Given the description of an element on the screen output the (x, y) to click on. 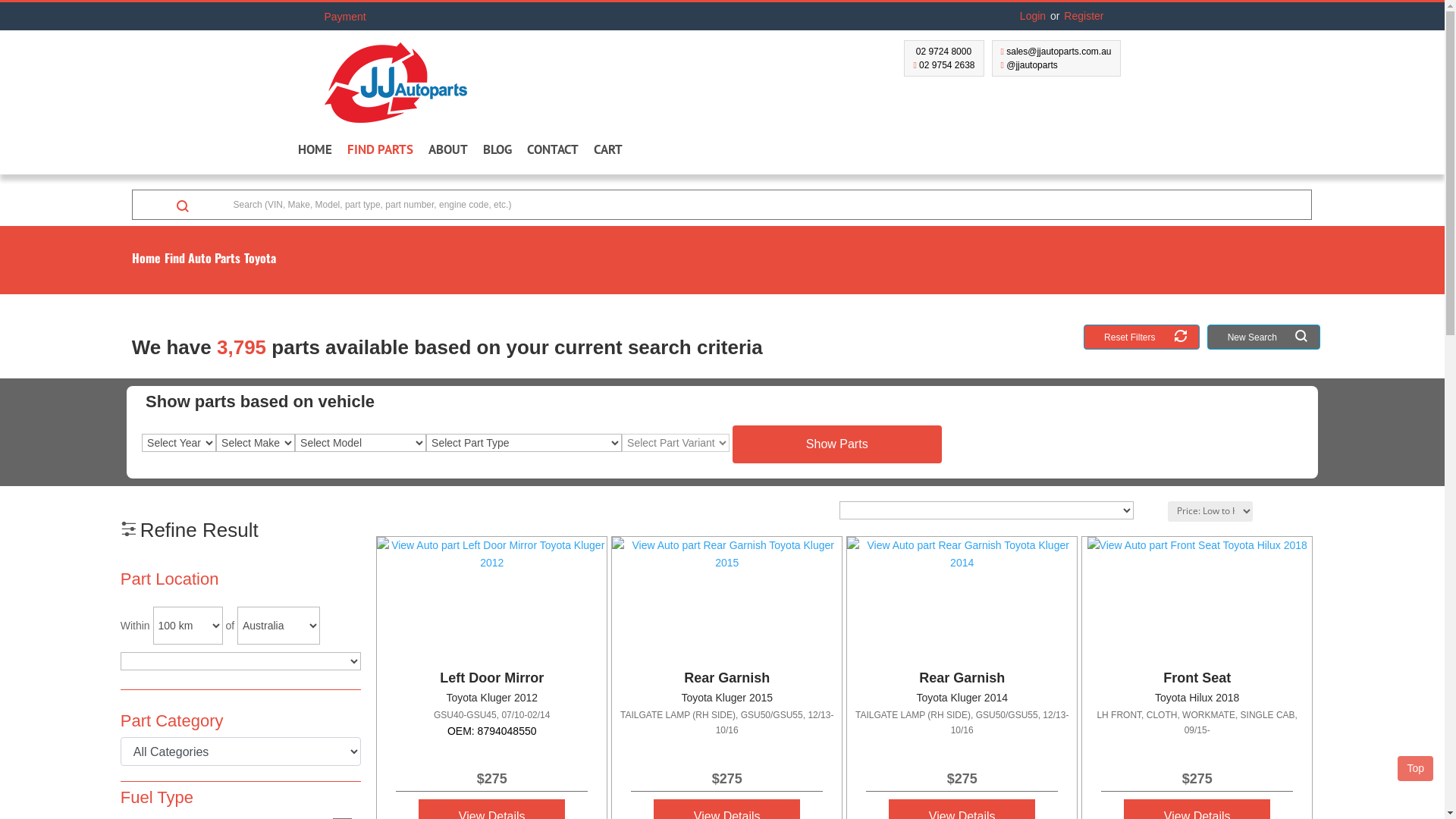
Payment Element type: text (360, 16)
Register Element type: text (1083, 15)
New Search Element type: text (1263, 336)
HOME Element type: text (313, 152)
Top Element type: text (1415, 768)
JJ Auto Parts - Largest single site in Australia Element type: hover (395, 77)
FIND PARTS Element type: text (379, 152)
Login Element type: text (1032, 15)
 02 9724 8000 Element type: text (942, 51)
ABOUT Element type: text (447, 152)
BLOG Element type: text (496, 152)
Show Parts Element type: text (836, 444)
Home Element type: text (147, 256)
Toyota Element type: text (261, 256)
 sales@jjautoparts.com.au Element type: text (1056, 51)
CONTACT Element type: text (551, 152)
Find Auto Parts Element type: text (204, 256)
CART Element type: text (612, 152)
Reset Filters Element type: text (1141, 336)
 @jjautoparts Element type: text (1029, 64)
 02 9754 2638 Element type: text (943, 64)
